Given the description of an element on the screen output the (x, y) to click on. 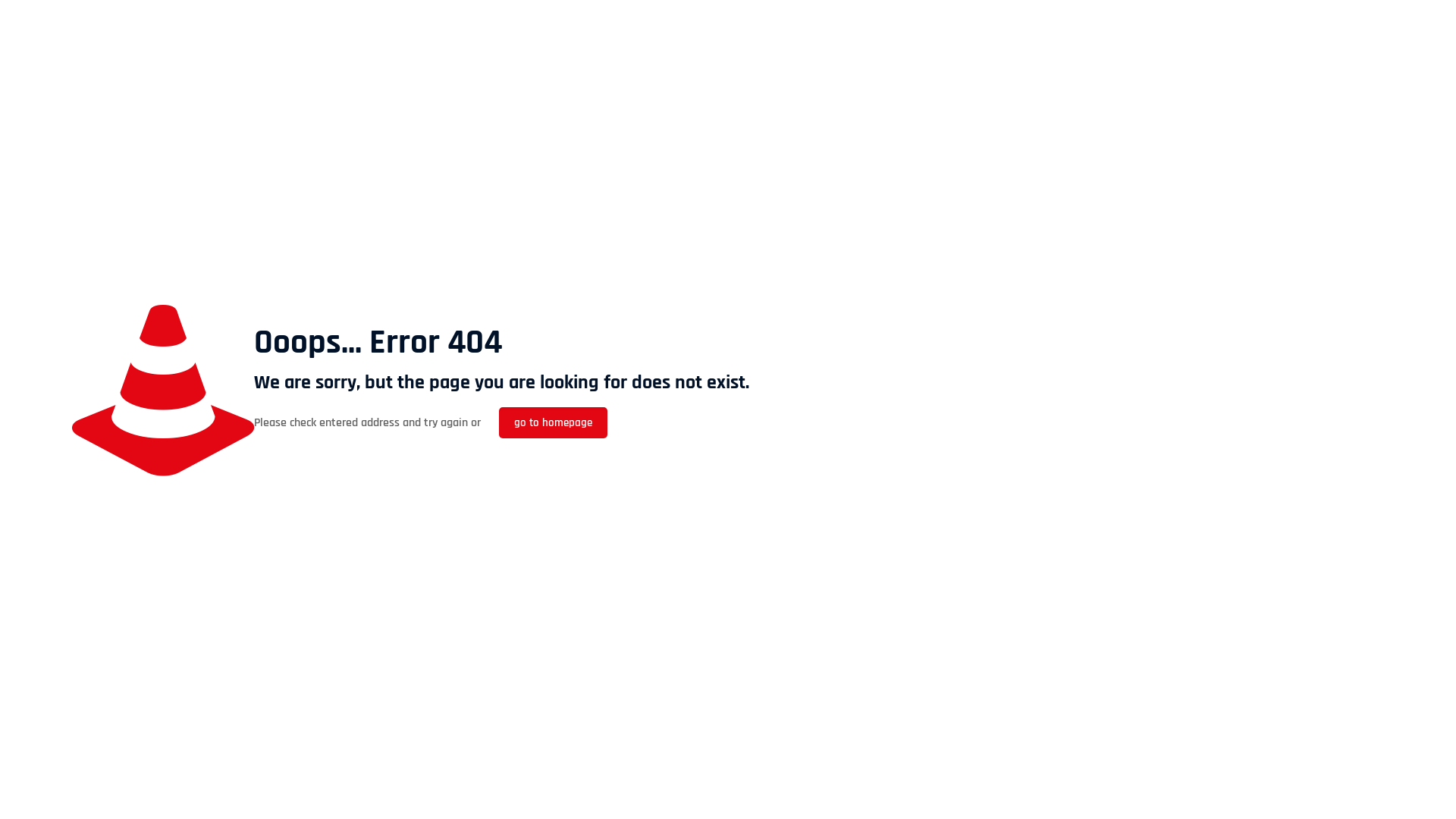
go to homepage Element type: text (552, 422)
